Given the description of an element on the screen output the (x, y) to click on. 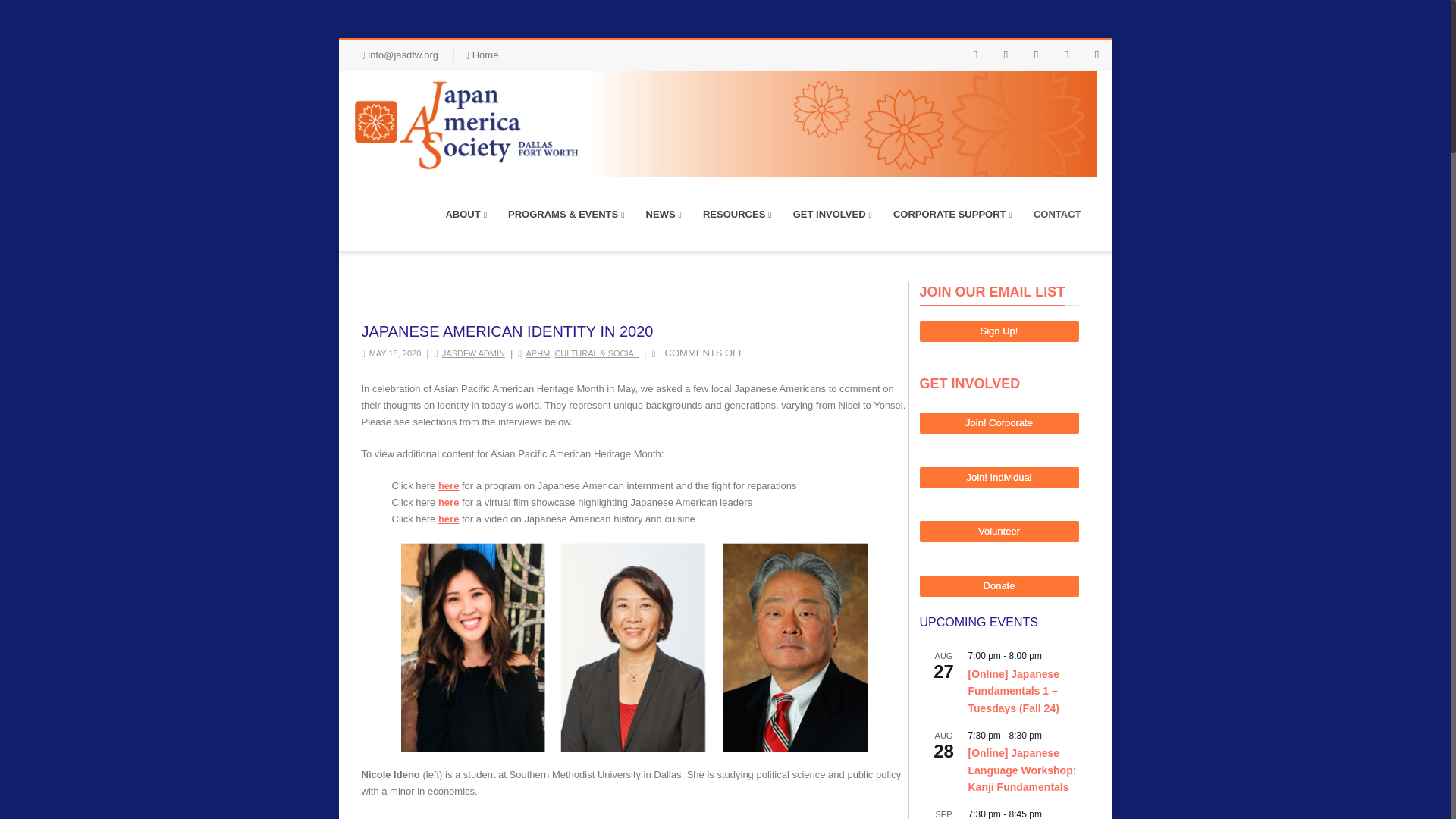
Posts by JASDFW Admin (473, 352)
Home (485, 54)
jasdfw.org (716, 123)
